Given the description of an element on the screen output the (x, y) to click on. 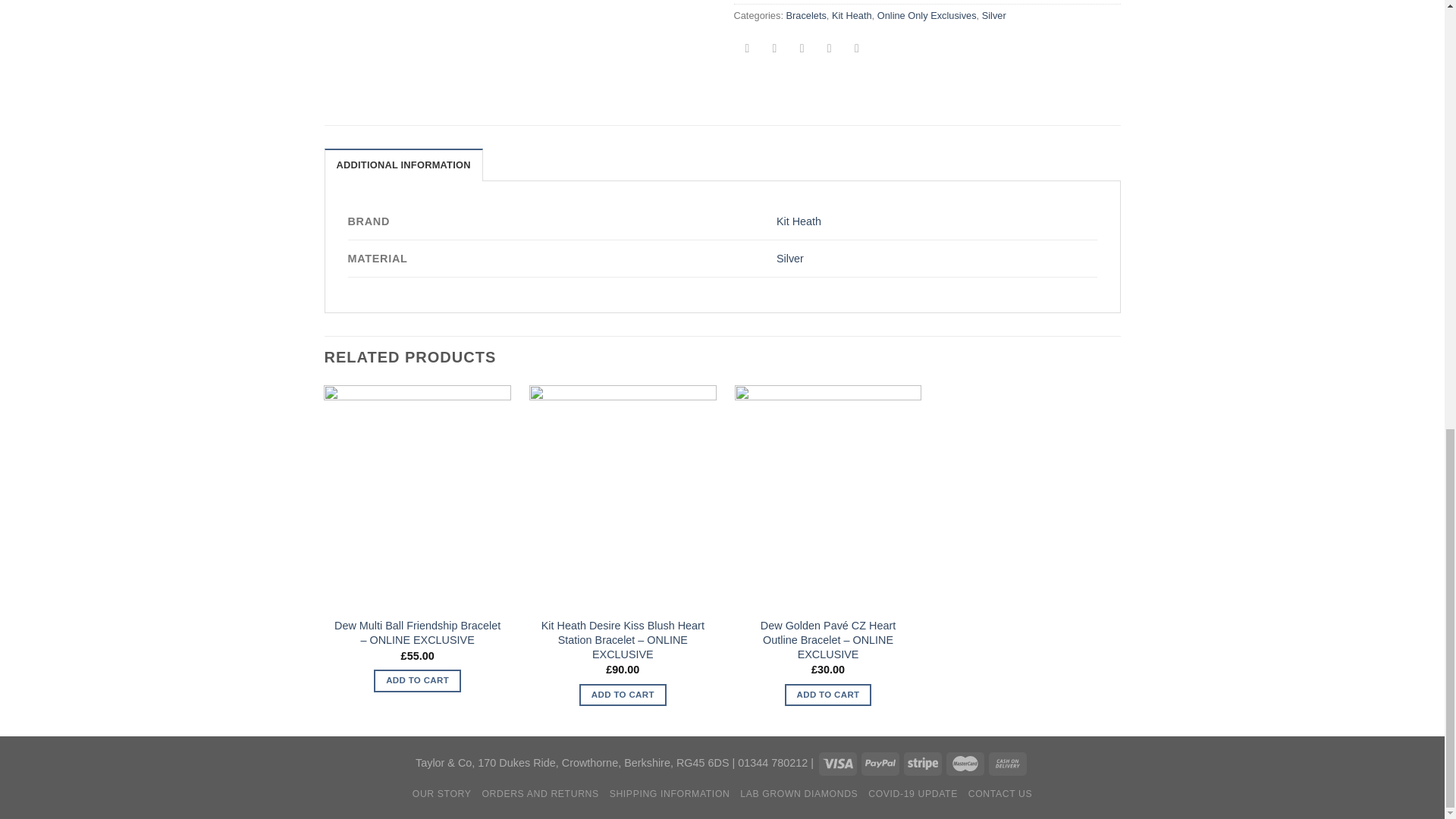
Silver (993, 15)
Share on Tumblr (856, 49)
Bracelets (805, 15)
Kit Heath (851, 15)
Pin on Pinterest (828, 49)
Online Only Exclusives (926, 15)
Email to a Friend (801, 49)
Share on Facebook (747, 49)
Share on Twitter (774, 49)
